Given the description of an element on the screen output the (x, y) to click on. 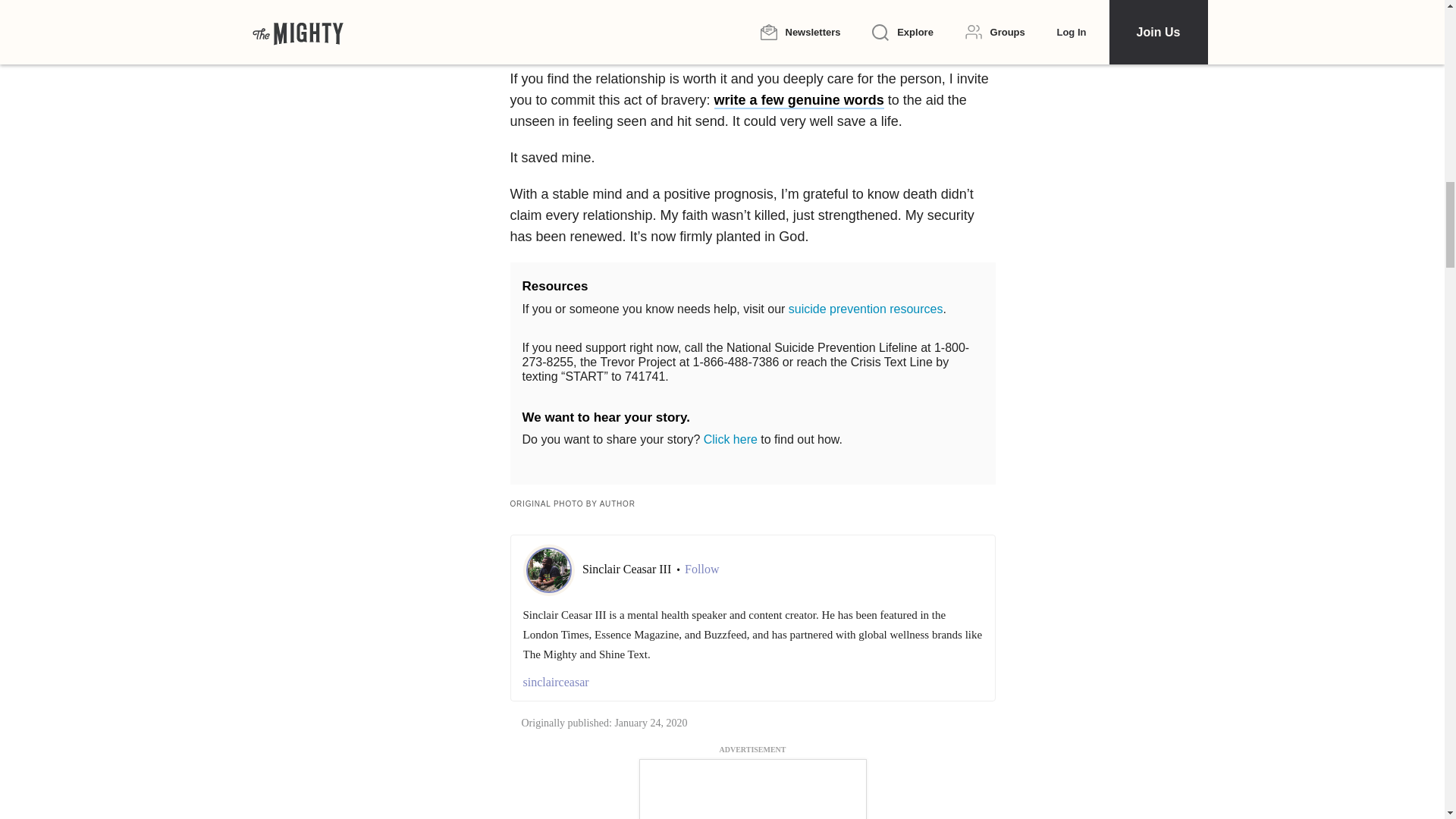
suicide prevention resources (866, 308)
Follow (701, 569)
Sinclair Ceasar III (628, 568)
write a few genuine words (798, 100)
Click here (730, 439)
sinclairceasar (752, 682)
